Given the description of an element on the screen output the (x, y) to click on. 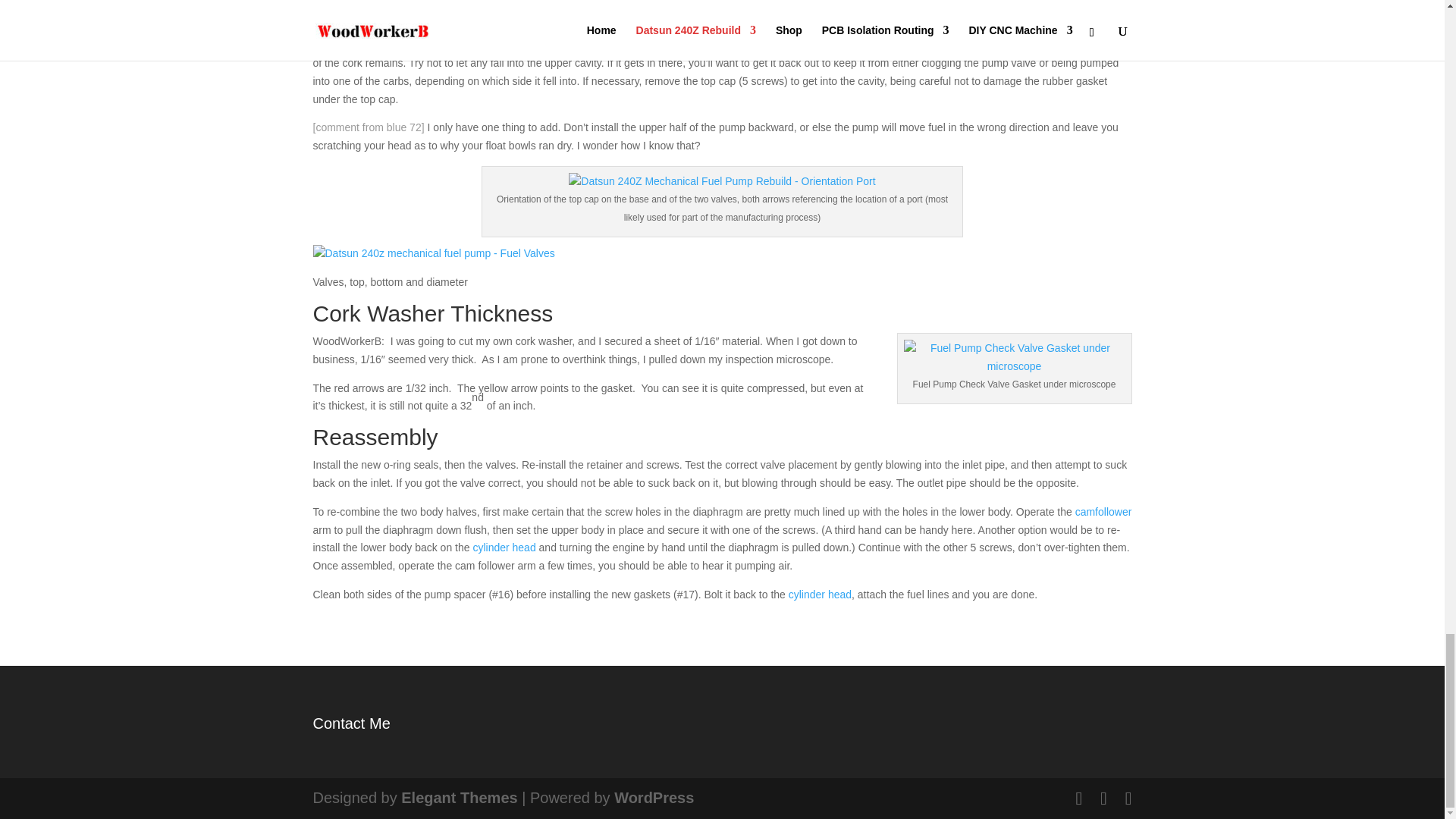
Link added by VigLink (1103, 511)
Link added by VigLink (820, 594)
Premium WordPress Themes (458, 797)
Link added by VigLink (503, 547)
